Given the description of an element on the screen output the (x, y) to click on. 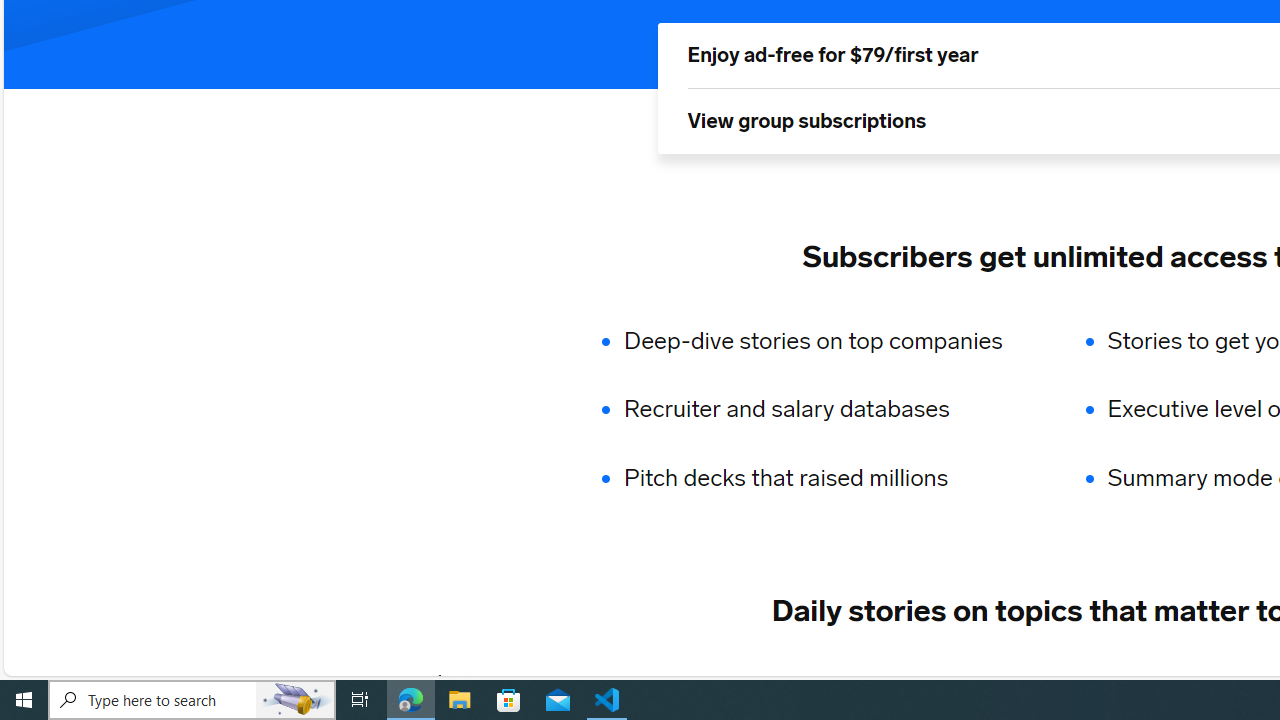
ADVERTISING (615, 681)
RETAIL (744, 681)
TECH (492, 681)
Recruiter and salary databases (825, 409)
FINANCE (853, 681)
Deep-dive stories on top companies (825, 340)
Pitch decks that raised millions (825, 478)
HEALTHCARE (1195, 681)
PERSONAL FINANCE (1016, 681)
